Given the description of an element on the screen output the (x, y) to click on. 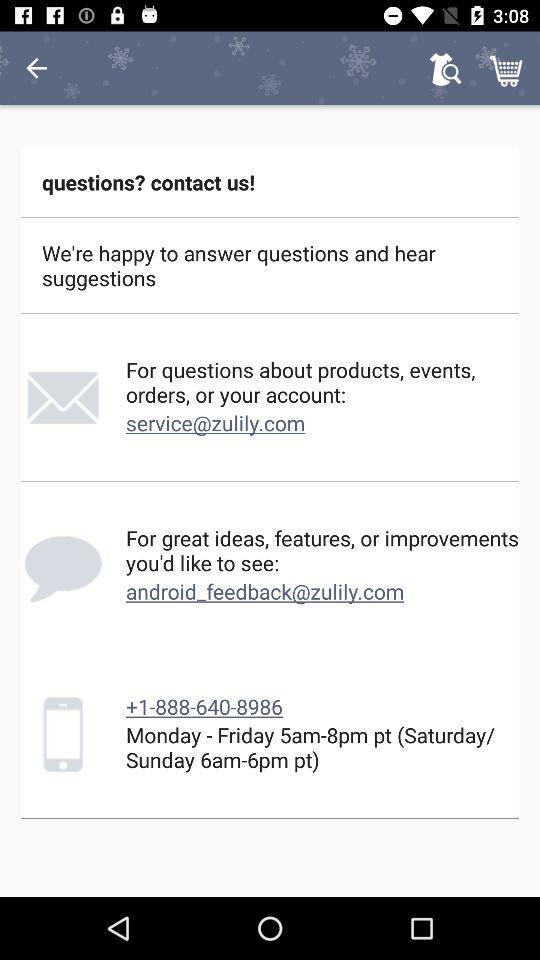
swipe until android_feedback@zulily.com icon (265, 591)
